Given the description of an element on the screen output the (x, y) to click on. 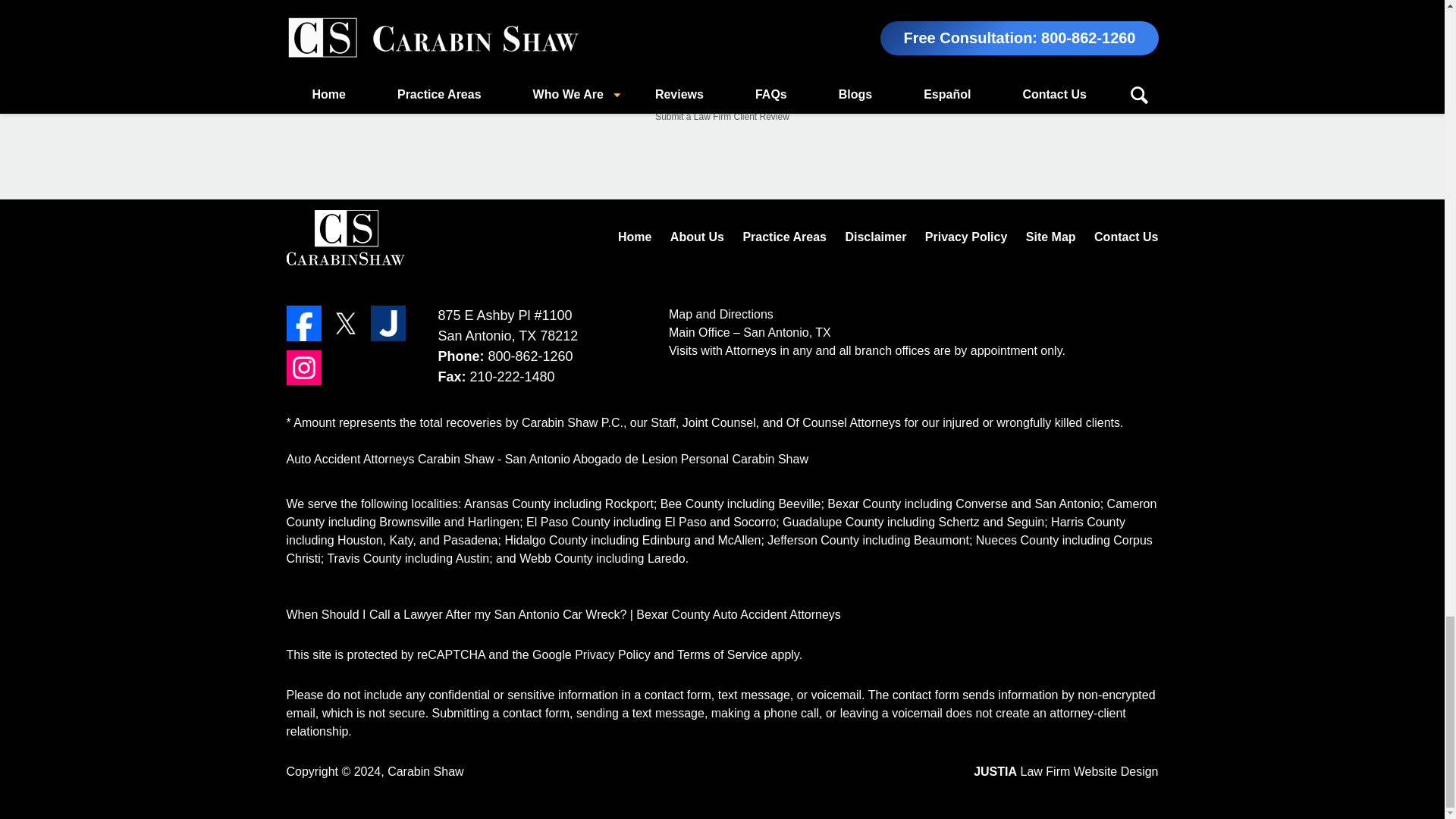
Twitter (345, 322)
Facebook (303, 322)
Instagram (303, 367)
Justia (388, 322)
